Given the description of an element on the screen output the (x, y) to click on. 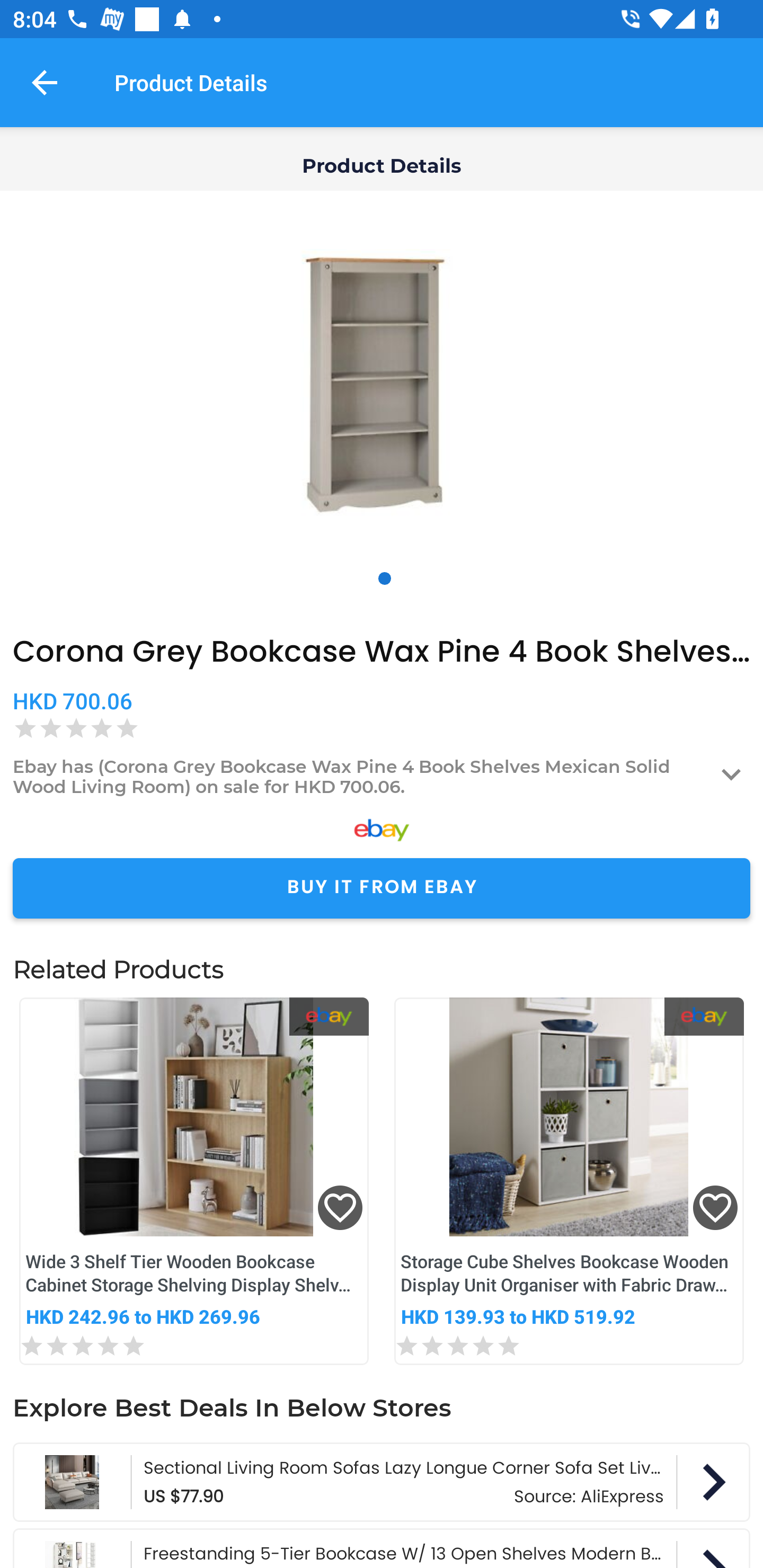
Navigate up (44, 82)
BUY IT FROM EBAY (381, 888)
